Given the description of an element on the screen output the (x, y) to click on. 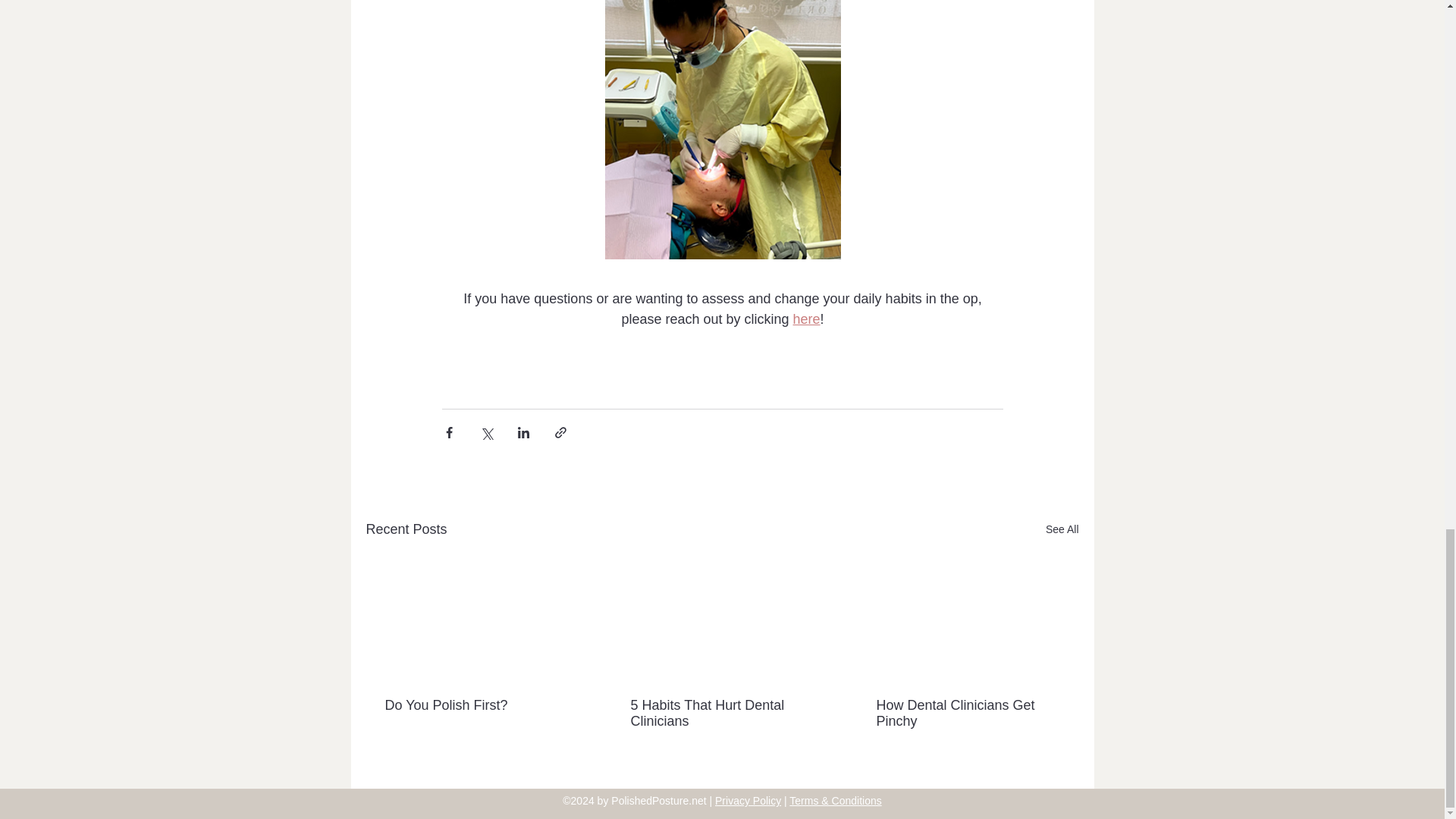
here (805, 319)
5 Habits That Hurt Dental Clinicians (721, 713)
Do You Polish First? (476, 705)
See All (1061, 529)
